Given the description of an element on the screen output the (x, y) to click on. 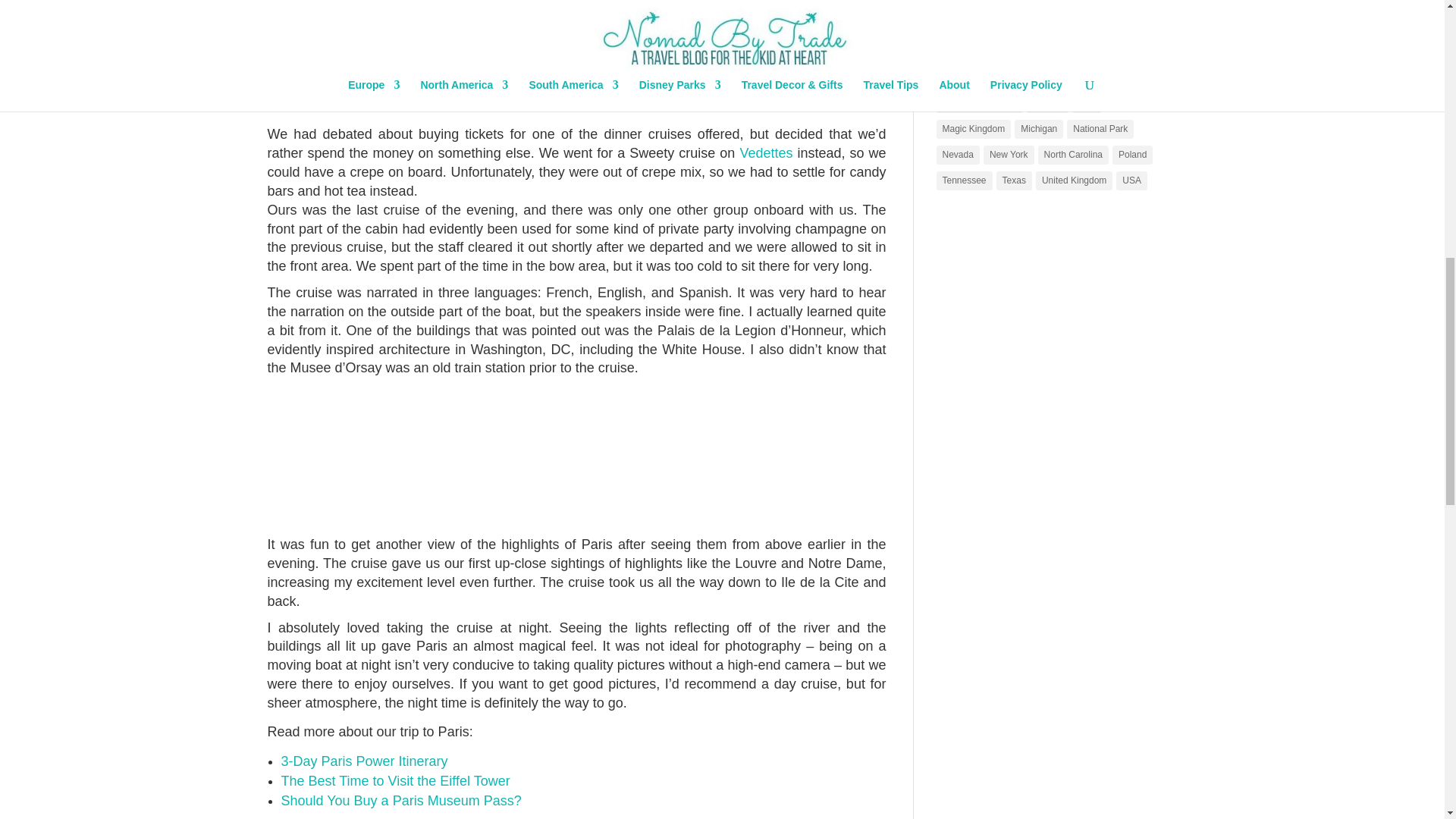
The Eiffel Tower at night in Paris, France (576, 62)
Vedettes (765, 152)
Evening cruise on the River Seine in Paris (575, 466)
